Given the description of an element on the screen output the (x, y) to click on. 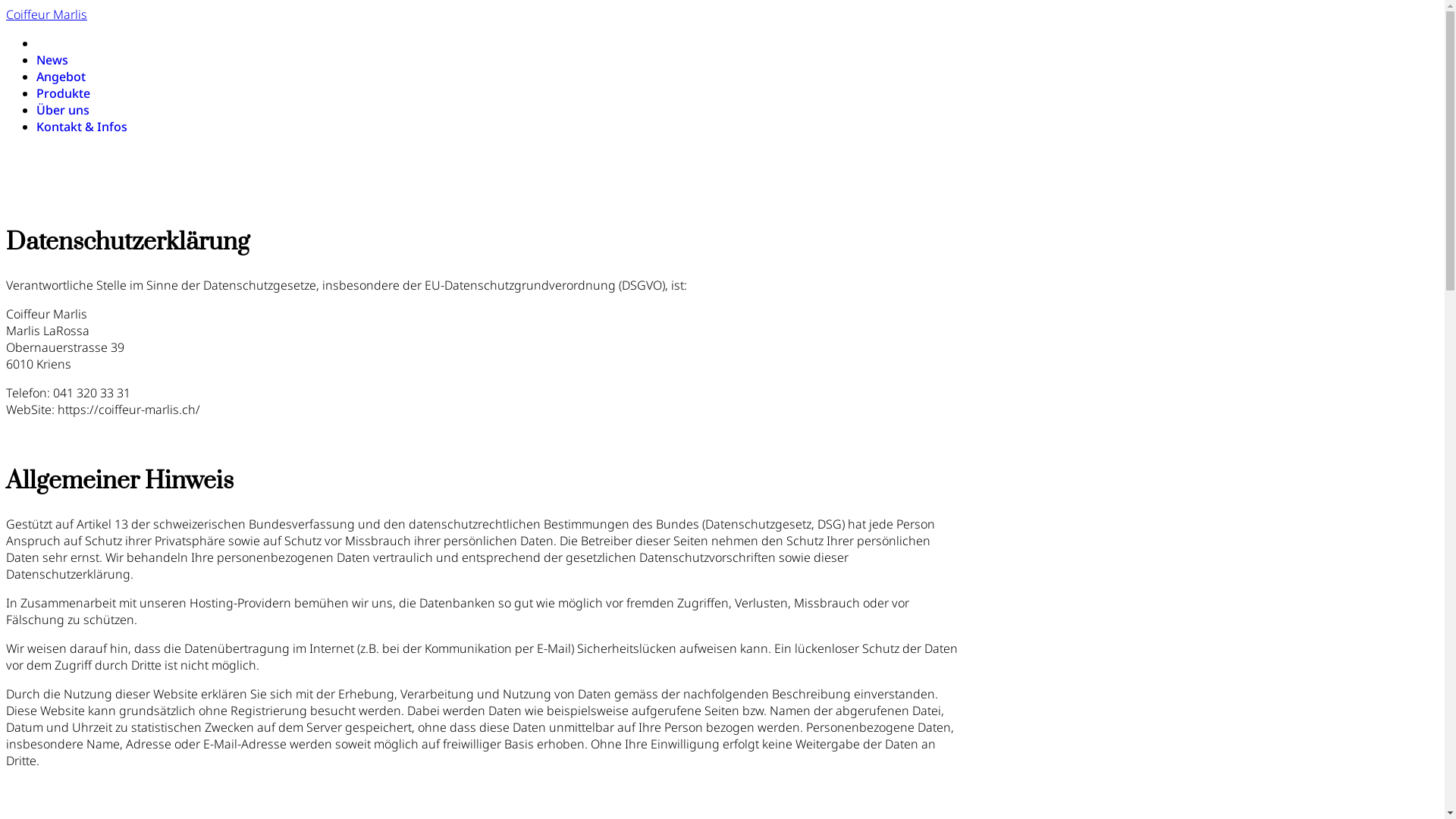
Angebot Element type: text (60, 76)
Kontakt & Infos Element type: text (81, 126)
Coiffeur Marlis Element type: text (46, 14)
News Element type: text (52, 59)
Produkte Element type: text (63, 92)
